Given the description of an element on the screen output the (x, y) to click on. 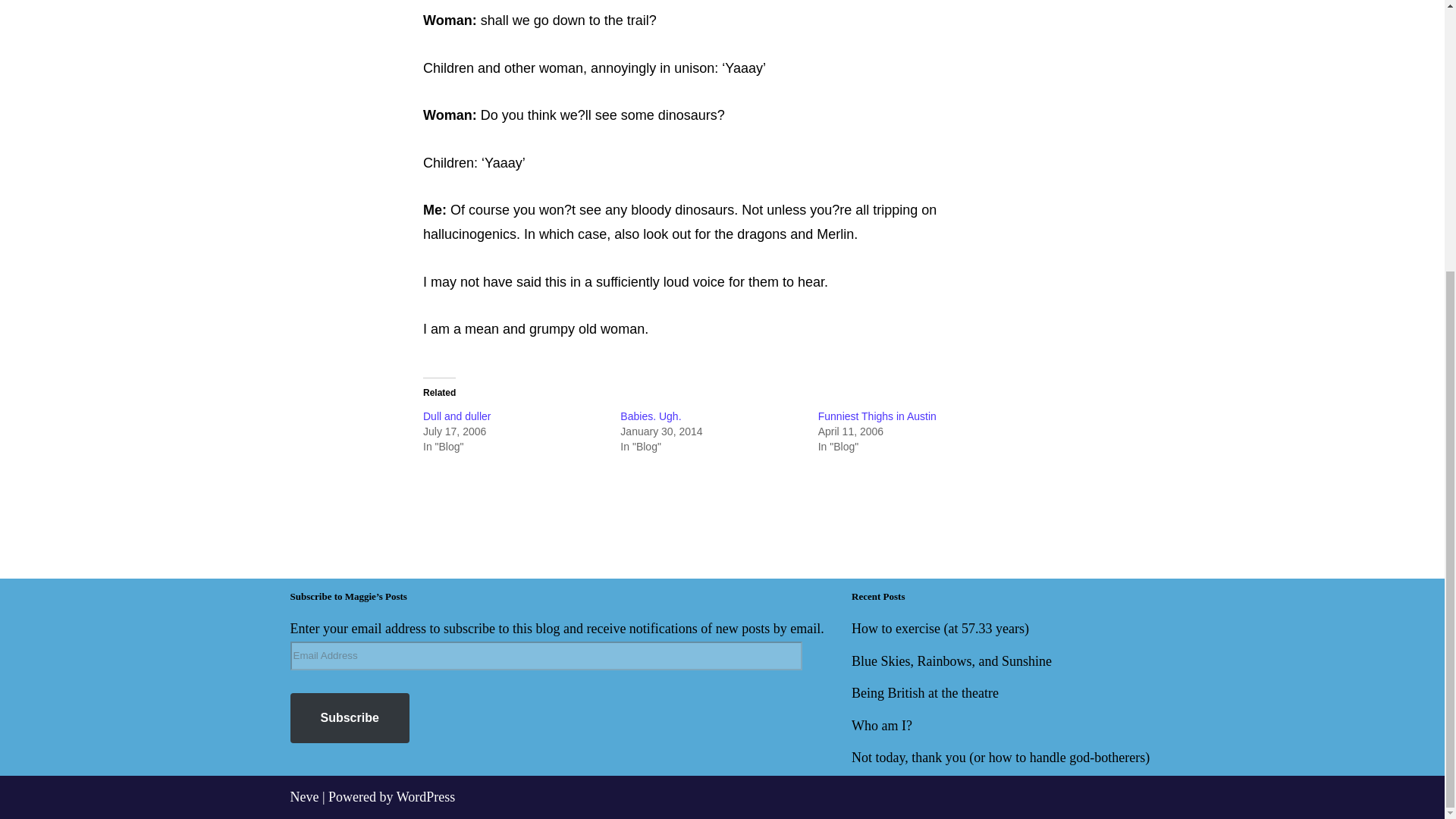
Blue Skies, Rainbows, and Sunshine (951, 661)
Babies. Ugh. (650, 416)
Babies. Ugh. (650, 416)
Dull and duller (457, 416)
Who am I? (881, 725)
Being British at the theatre (924, 693)
Neve (303, 796)
WordPress (425, 796)
Subscribe (349, 717)
Funniest Thighs in Austin (877, 416)
